Given the description of an element on the screen output the (x, y) to click on. 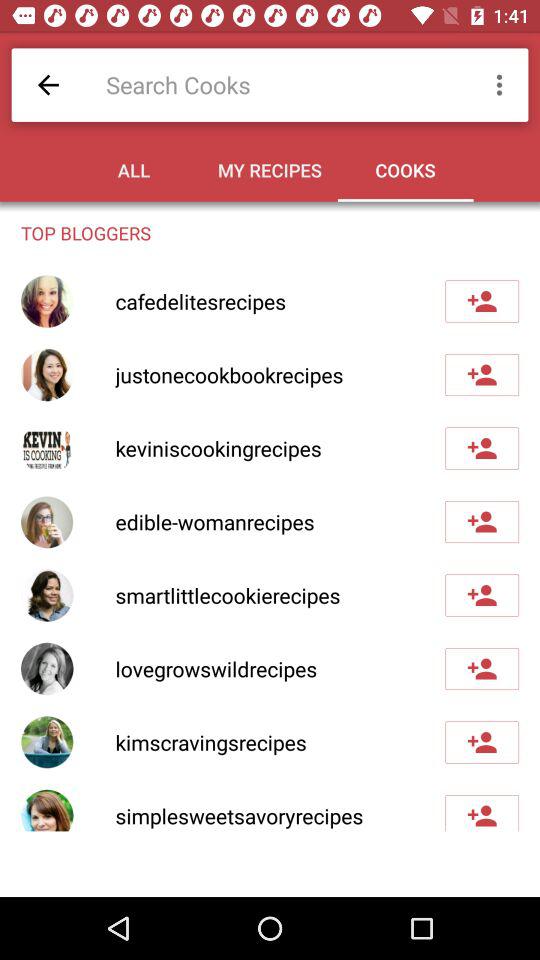
press icon above all item (280, 84)
